Given the description of an element on the screen output the (x, y) to click on. 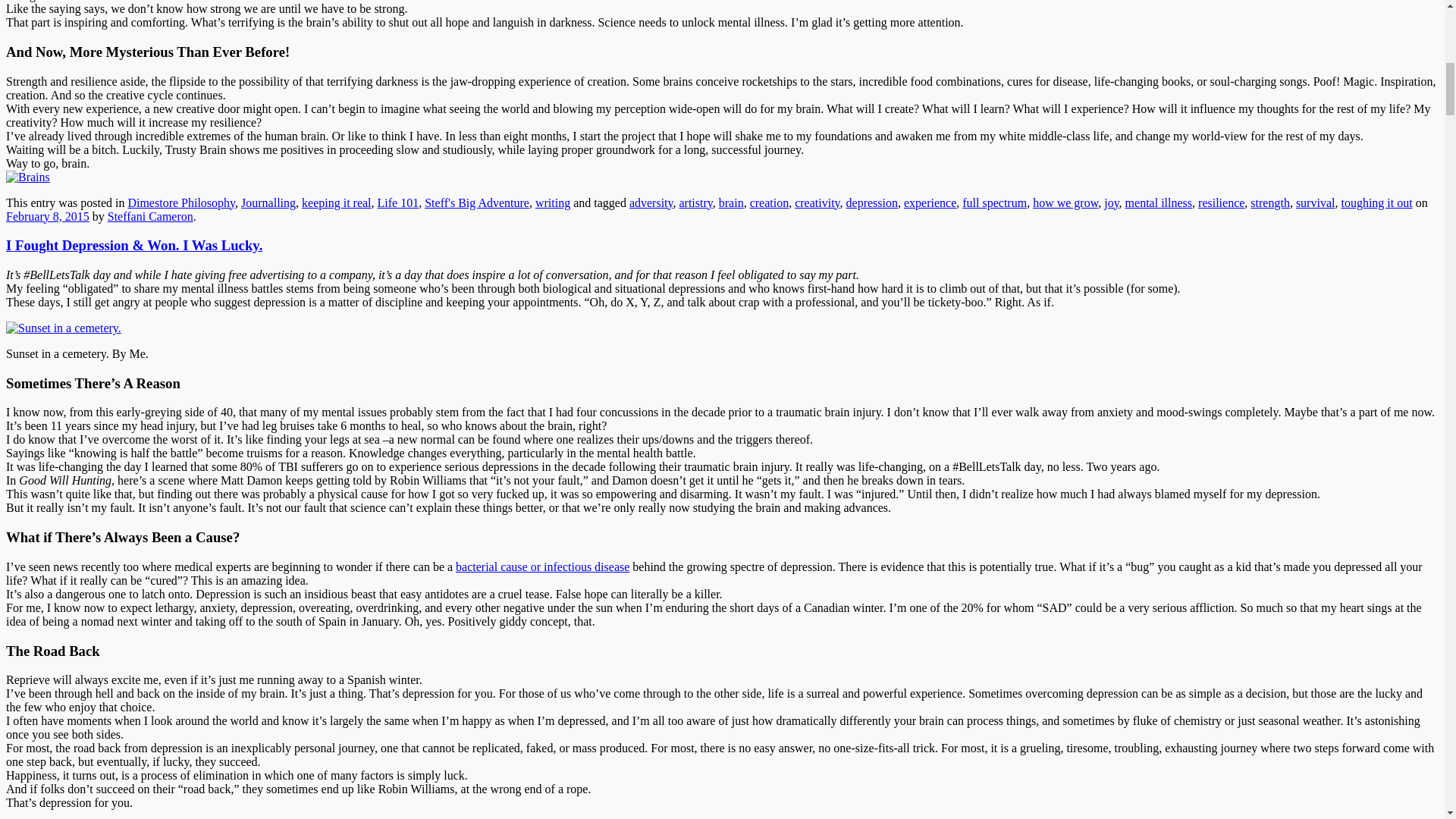
adversity (650, 201)
full spectrum (994, 201)
joy (1110, 201)
bacterial cause or infectious disease (541, 566)
Steff's Big Adventure (477, 201)
how we grow (1064, 201)
brain (731, 201)
artistry (694, 201)
strength (1270, 201)
3:13 pm (46, 215)
